Given the description of an element on the screen output the (x, y) to click on. 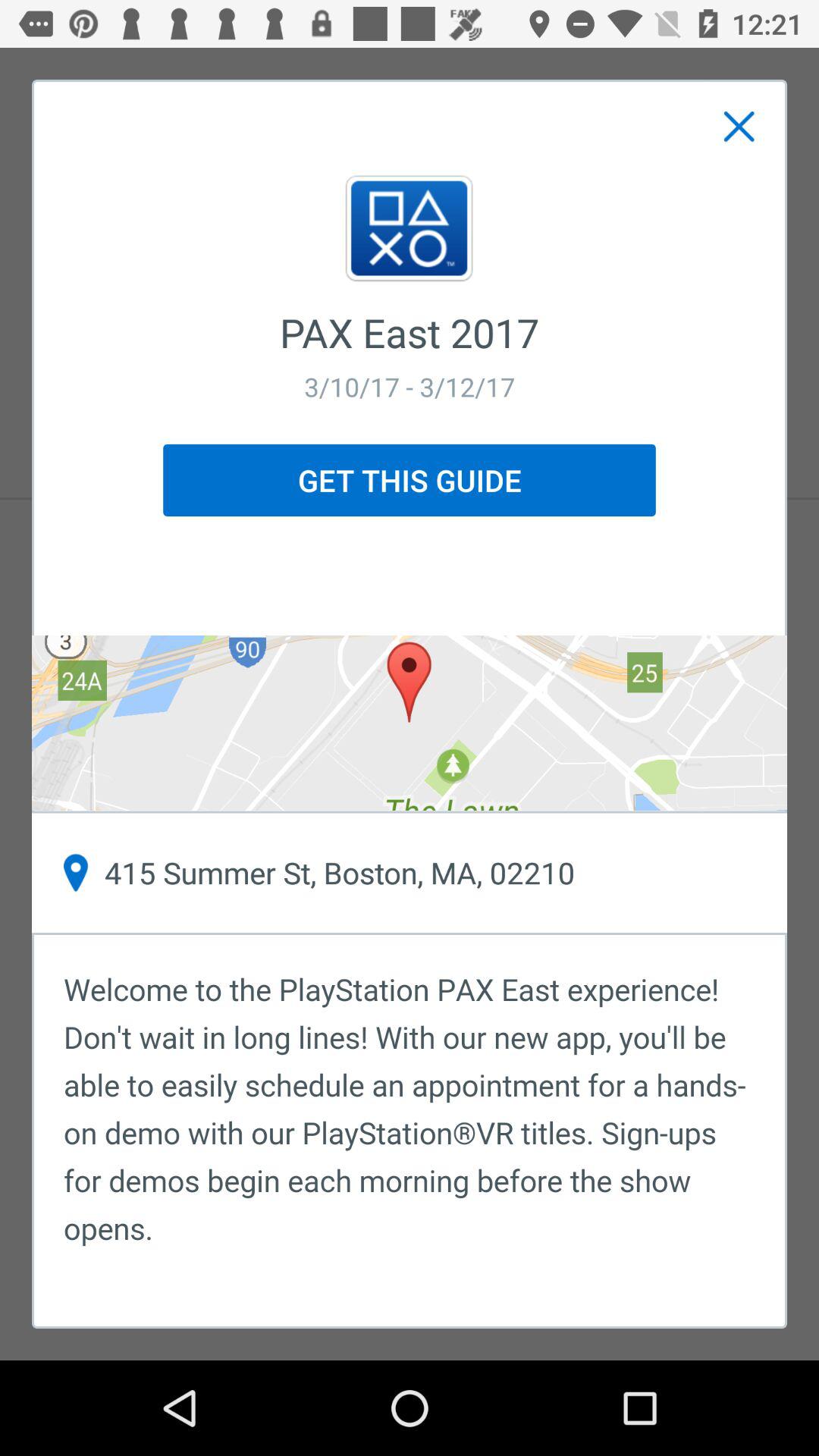
open item above pax east 2017 (739, 126)
